Given the description of an element on the screen output the (x, y) to click on. 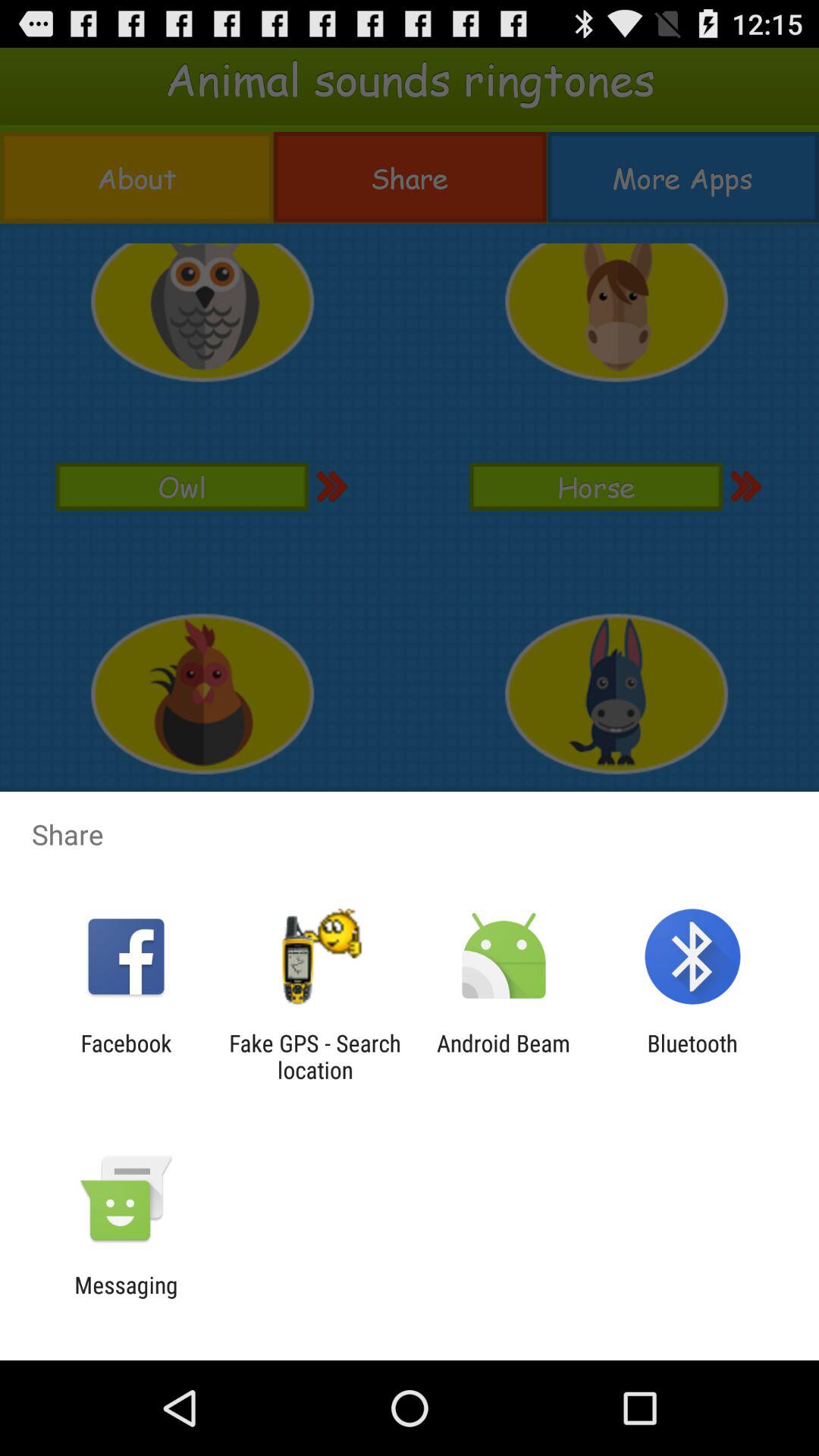
jump until fake gps search icon (314, 1056)
